Given the description of an element on the screen output the (x, y) to click on. 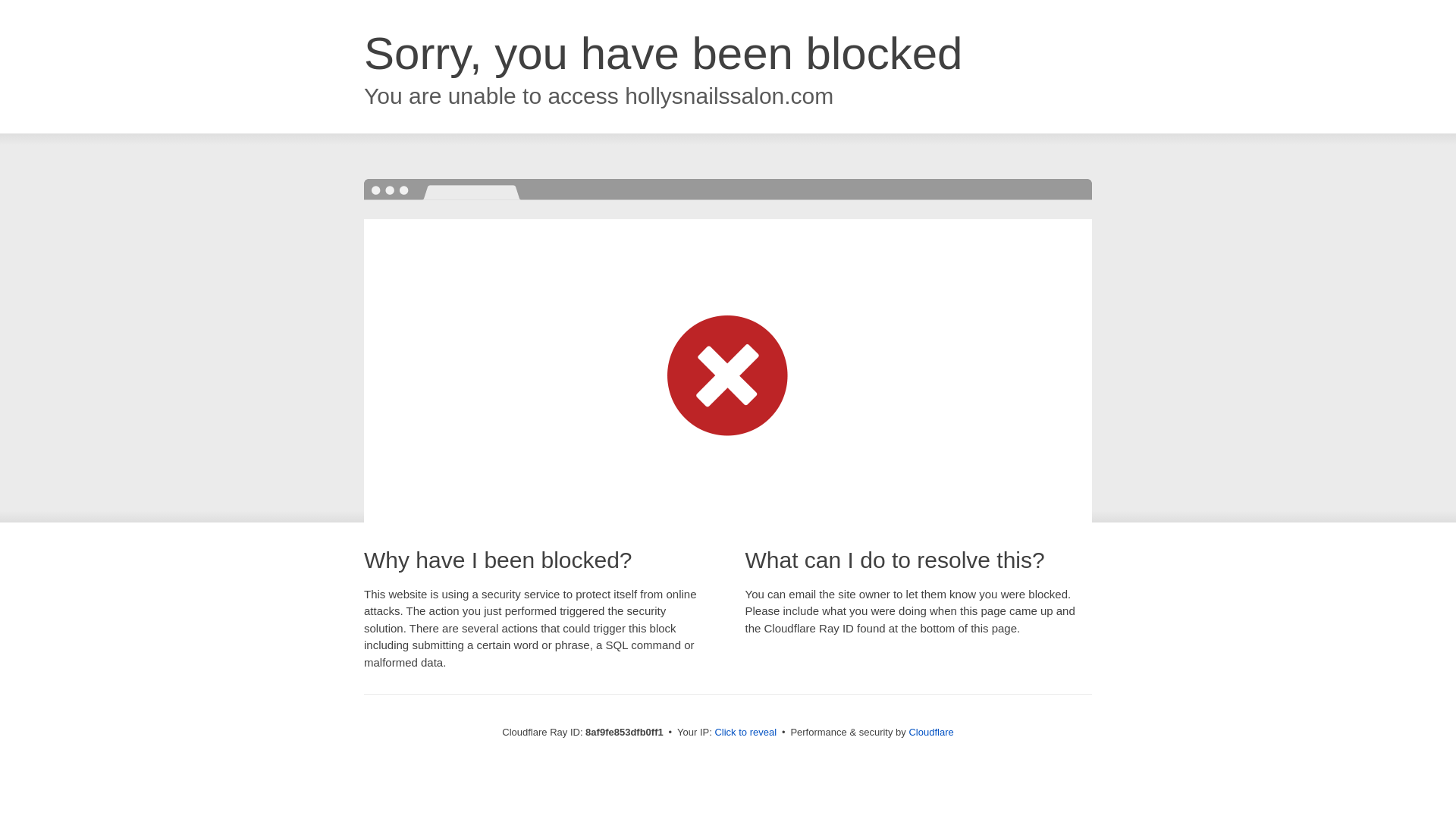
Click to reveal (745, 732)
Cloudflare (930, 731)
